Given the description of an element on the screen output the (x, y) to click on. 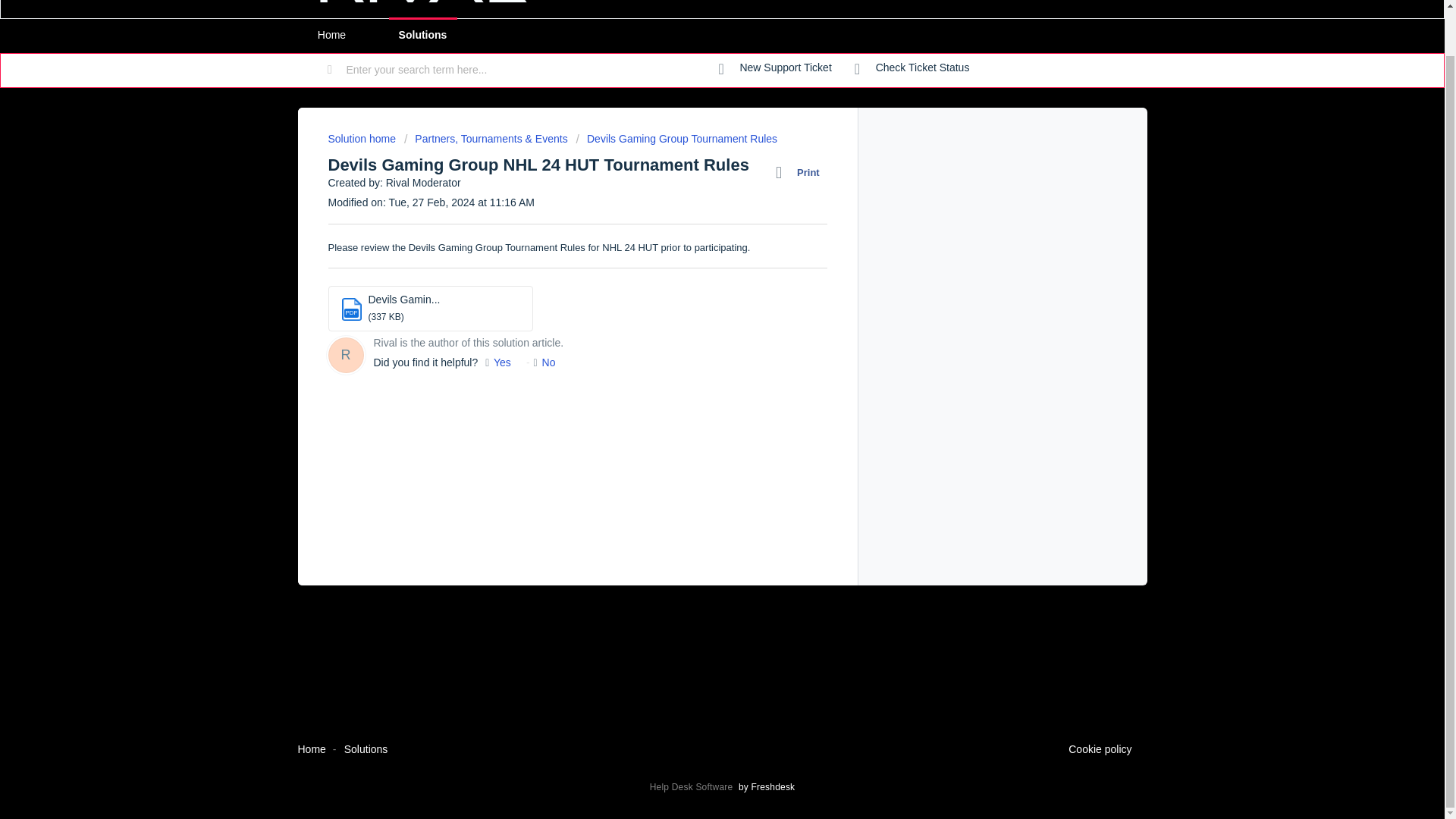
New Support Ticket (775, 68)
Print (801, 172)
Cookie policy (1099, 750)
Why we love Cookies (1099, 750)
Solutions (365, 748)
Solution home (362, 138)
Devils Gamin... (404, 299)
Help Desk Software (693, 787)
Print this Article (801, 172)
Home (331, 35)
Solutions (422, 35)
Check ticket status (911, 68)
New support ticket (775, 68)
Check Ticket Status (911, 68)
Home (310, 748)
